Given the description of an element on the screen output the (x, y) to click on. 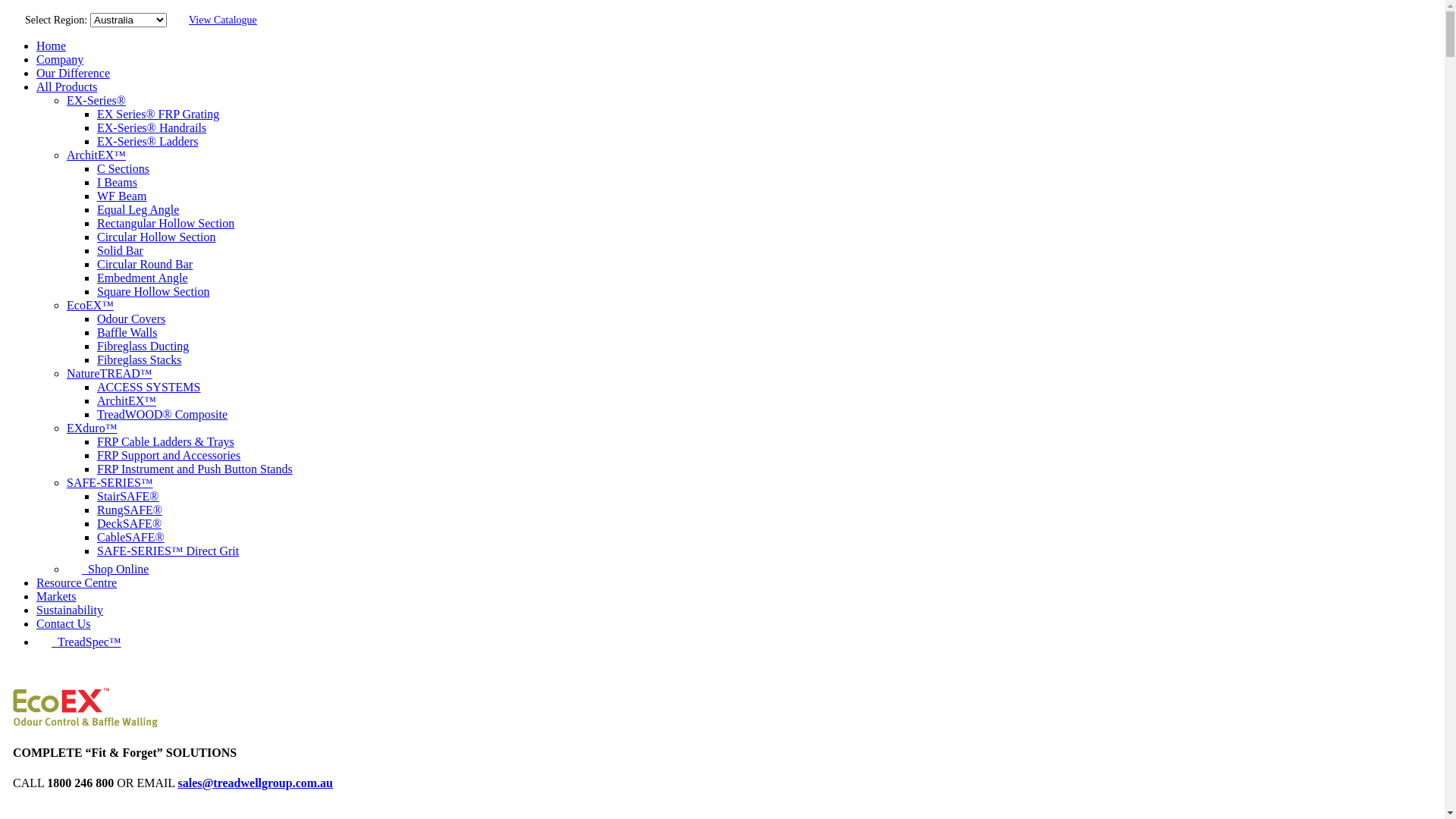
ACCESS SYSTEMS Element type: text (148, 386)
Embedment Angle Element type: text (142, 277)
View Catalogue Element type: text (222, 19)
C Sections Element type: text (123, 168)
Circular Hollow Section Element type: text (156, 236)
Circular Round Bar Element type: text (144, 263)
  Shop Online Element type: text (107, 568)
FRP Cable Ladders & Trays Element type: text (165, 441)
Square Hollow Section Element type: text (153, 291)
Fibreglass Ducting Element type: text (142, 345)
Resource Centre Element type: text (76, 582)
FRP Instrument and Push Button Stands Element type: text (194, 468)
All Products Element type: text (66, 86)
Rectangular Hollow Section Element type: text (165, 222)
Odour Covers Element type: text (131, 318)
FRP Support and Accessories Element type: text (168, 454)
sales@treadwellgroup.com.au Element type: text (254, 782)
Company Element type: text (59, 59)
Equal Leg Angle Element type: text (137, 209)
Fibreglass Stacks Element type: text (139, 359)
Markets Element type: text (55, 595)
Home Element type: text (50, 45)
Baffle Walls Element type: text (126, 332)
Solid Bar Element type: text (120, 250)
Contact Us Element type: text (63, 623)
I Beams Element type: text (117, 181)
Our Difference Element type: text (72, 72)
Sustainability Element type: text (69, 609)
WF Beam Element type: text (121, 195)
